Given the description of an element on the screen output the (x, y) to click on. 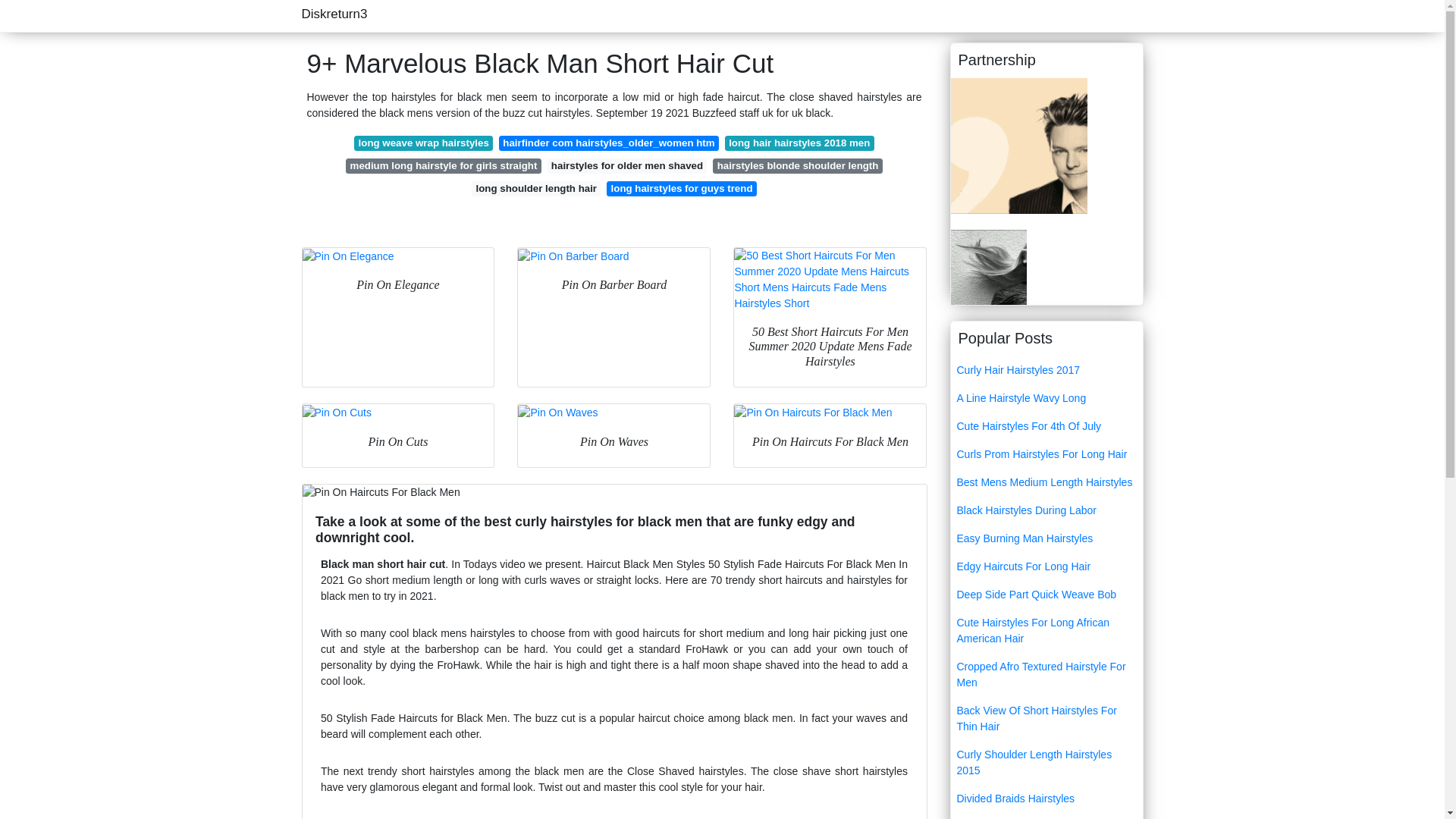
Diskreturn3 (334, 13)
Divided Braids Hairstyles (1046, 798)
Deep Side Part Quick Weave Bob (1046, 594)
Nailprogress24 (1018, 144)
hairstyles blonde shoulder length (797, 165)
long shoulder length hair (535, 188)
Best Mens Medium Length Hairstyles (1046, 482)
long hair hairstyles 2018 men (800, 142)
Curly Hair Hairstyles 2017 (1046, 370)
hairstyles for older men shaved (627, 165)
Black Hairstyles During Labor (1046, 510)
long weave wrap hairstyles (423, 142)
Cute Hairstyles For 4th Of July (1046, 426)
A Line Hairstyle Wavy Long (1046, 398)
Curls Prom Hairstyles For Long Hair (1046, 454)
